Given the description of an element on the screen output the (x, y) to click on. 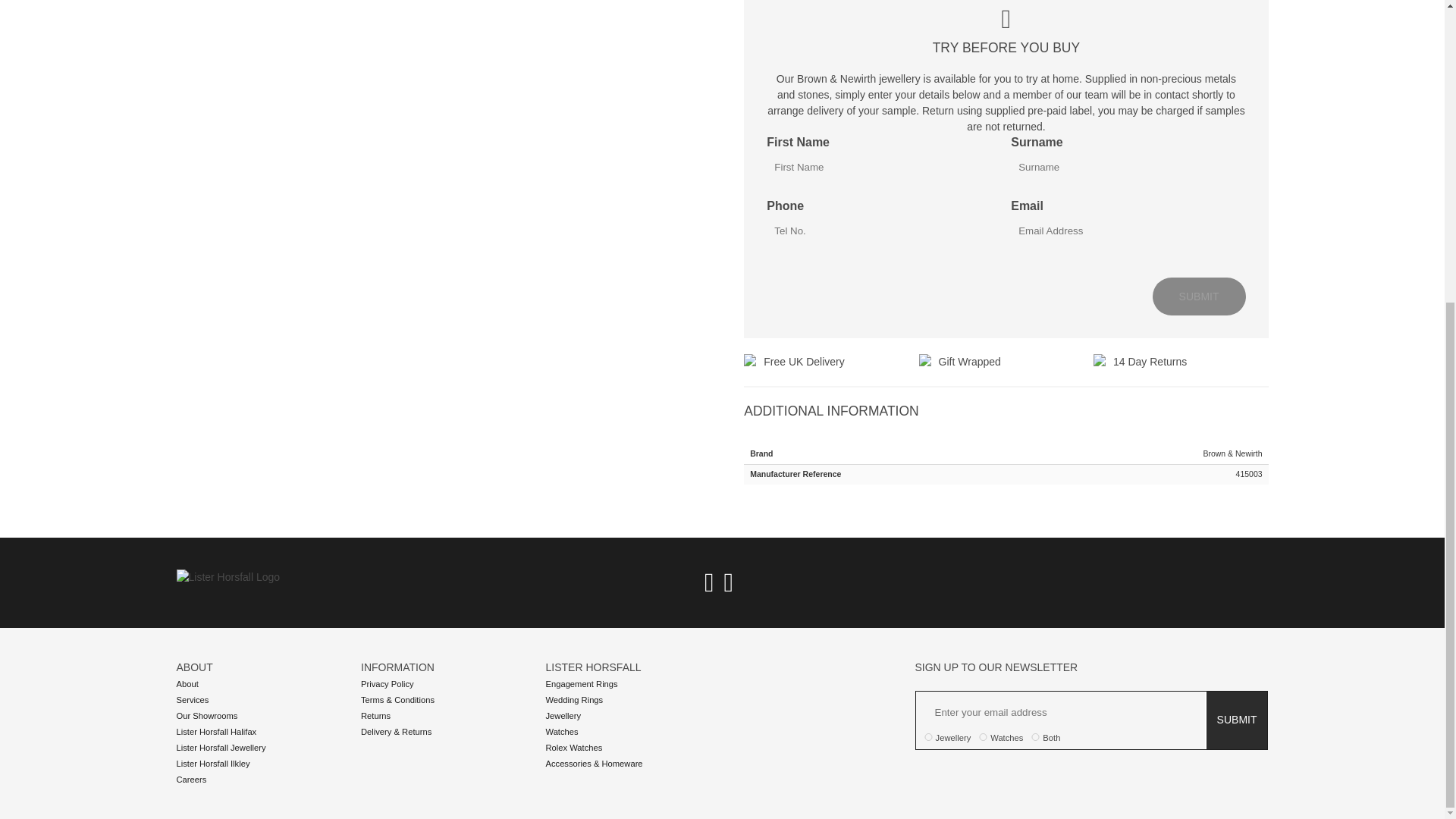
Submit (1199, 296)
Watches (983, 737)
Submit (1236, 720)
Both (1035, 737)
Jewellery (928, 737)
